Given the description of an element on the screen output the (x, y) to click on. 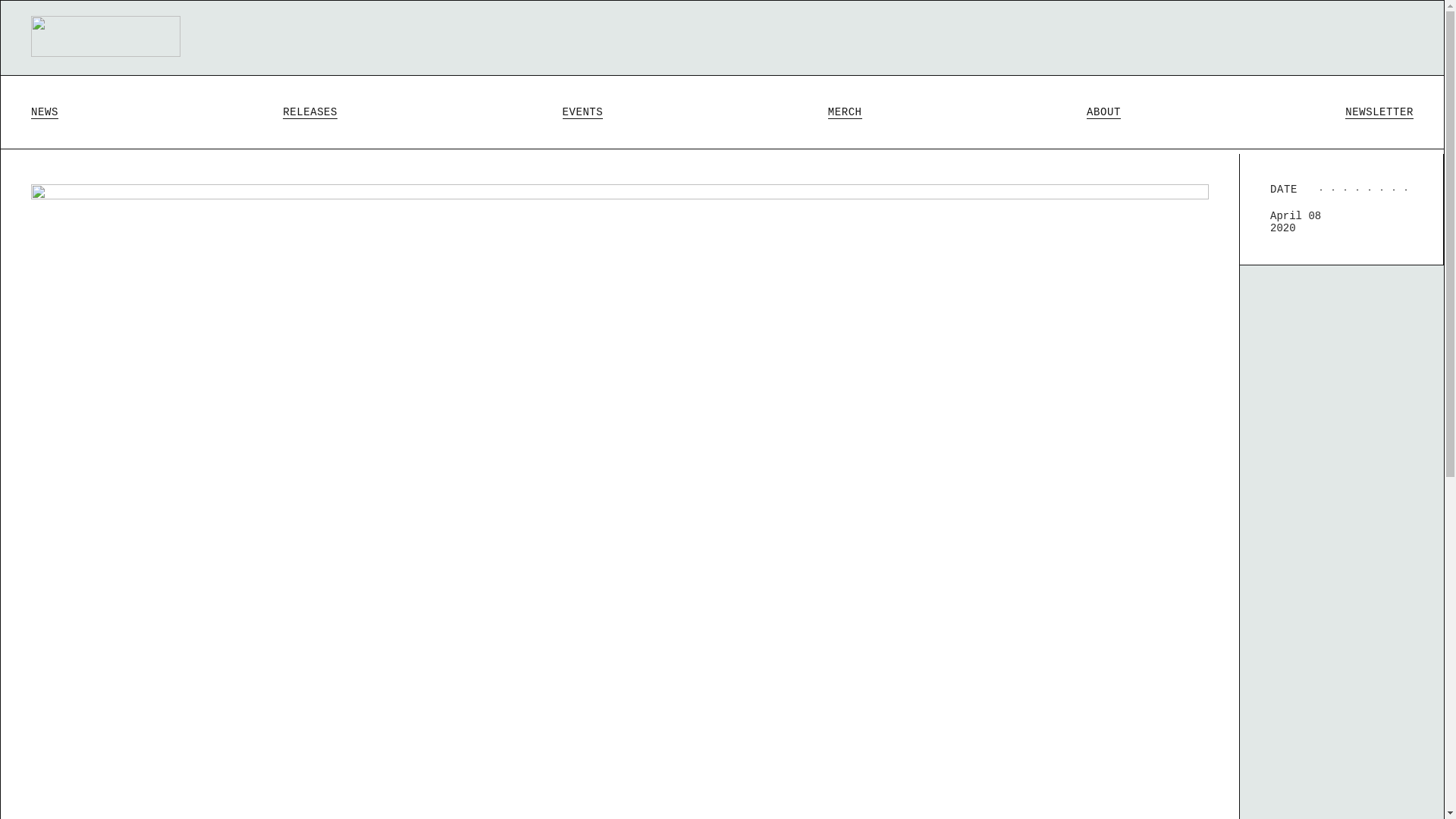
RELEASES (309, 112)
NEWSLETTER (1379, 112)
ABOUT (1103, 112)
NEWS (44, 112)
MERCH (844, 112)
EVENTS (583, 112)
